Given the description of an element on the screen output the (x, y) to click on. 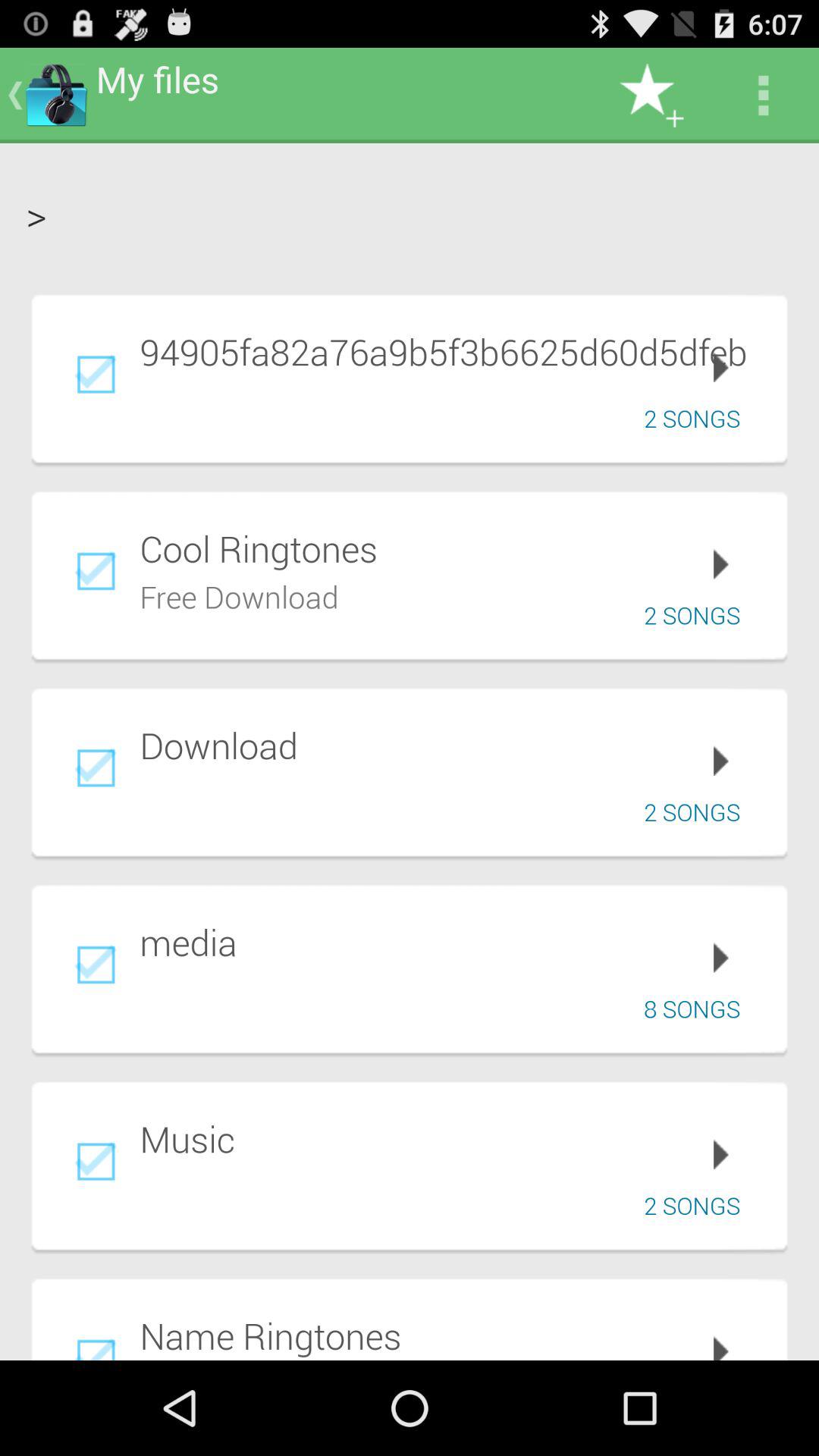
press free download item (238, 594)
